Given the description of an element on the screen output the (x, y) to click on. 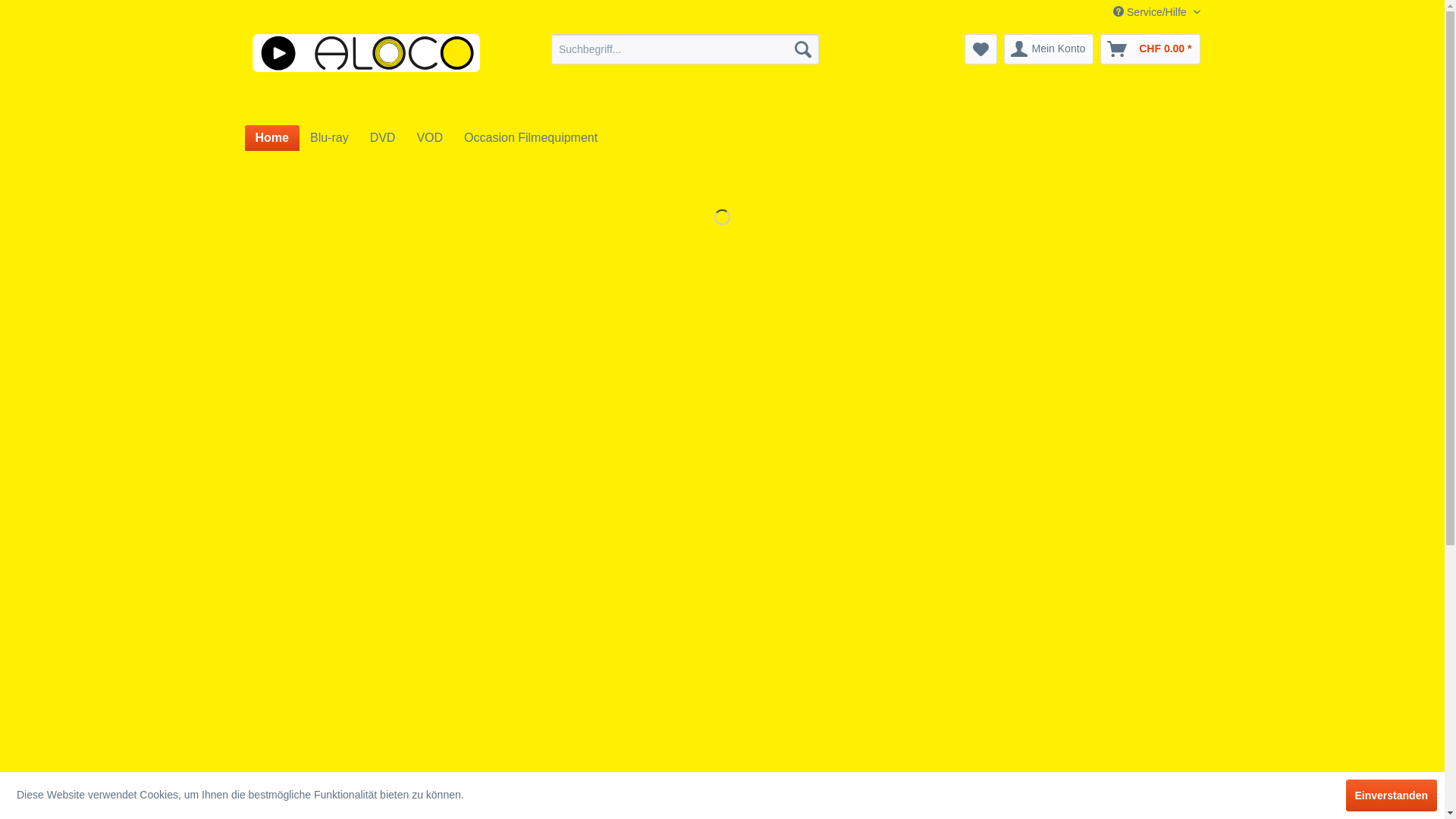
Occasion Filmequipment Element type: text (530, 137)
Einverstanden Element type: text (1391, 795)
Blu-ray Element type: text (329, 137)
DVD Element type: text (382, 137)
VOD Element type: text (429, 137)
CHF 0.00 * Element type: text (1149, 49)
Mein Konto Element type: text (1049, 49)
Home Element type: text (271, 137)
Merkzettel Element type: hover (980, 49)
